Given the description of an element on the screen output the (x, y) to click on. 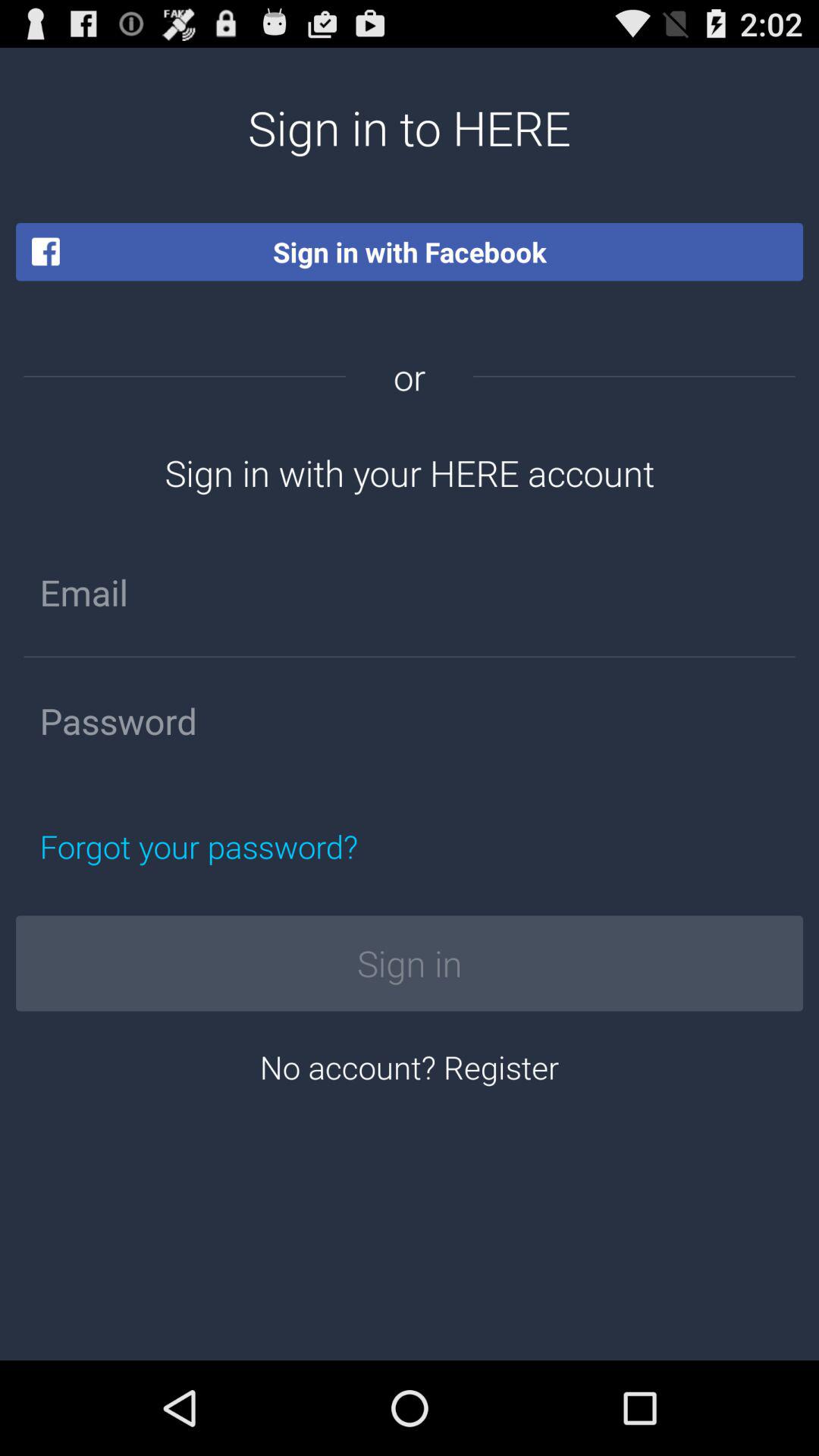
password field (409, 720)
